Given the description of an element on the screen output the (x, y) to click on. 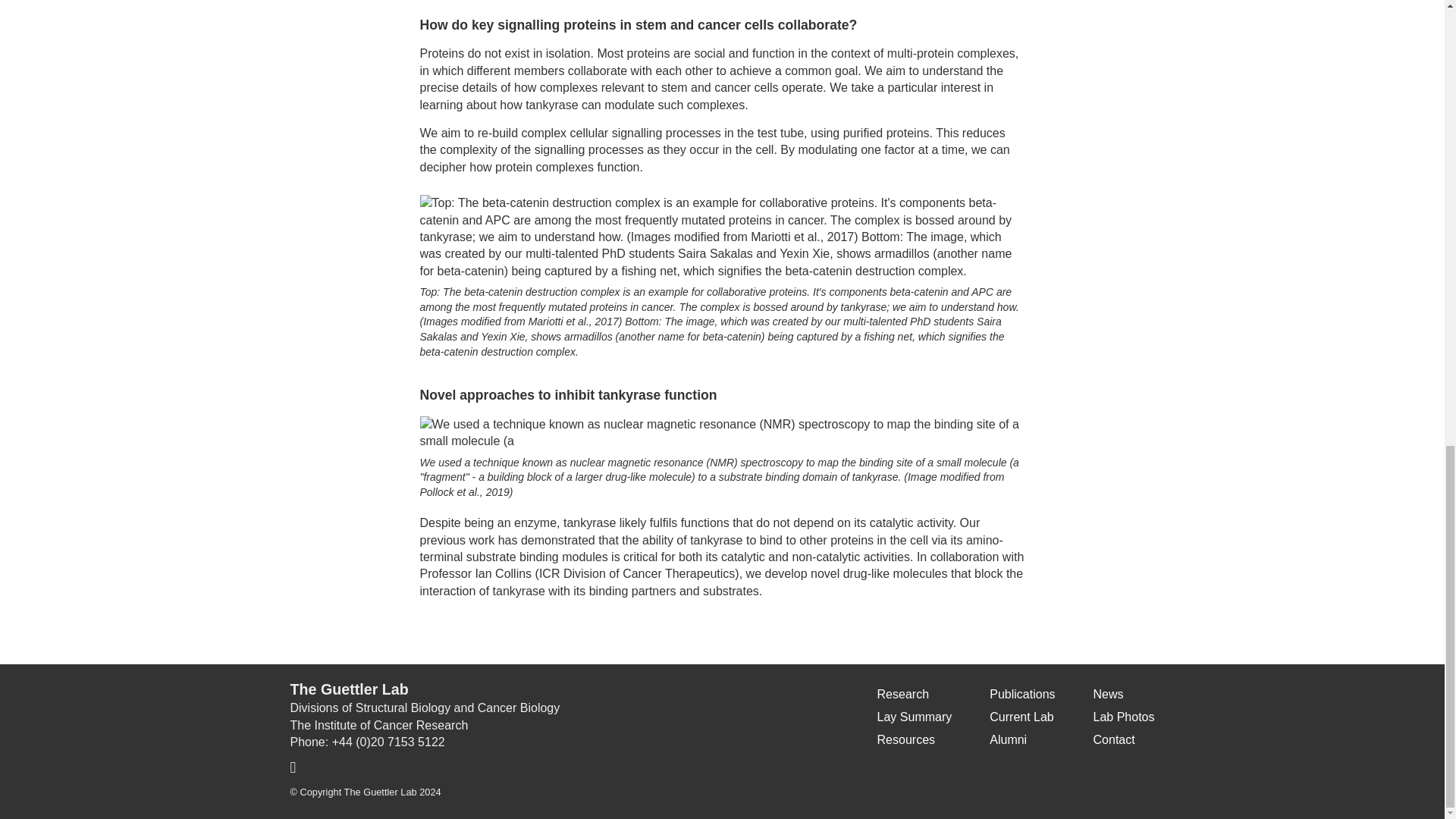
Lay Summary (914, 716)
News (1108, 694)
Research (902, 694)
Alumni (1008, 739)
Contact (1114, 739)
Resources (905, 739)
Lab Photos (1123, 716)
Publications (1022, 694)
Current Lab (1022, 716)
